Given the description of an element on the screen output the (x, y) to click on. 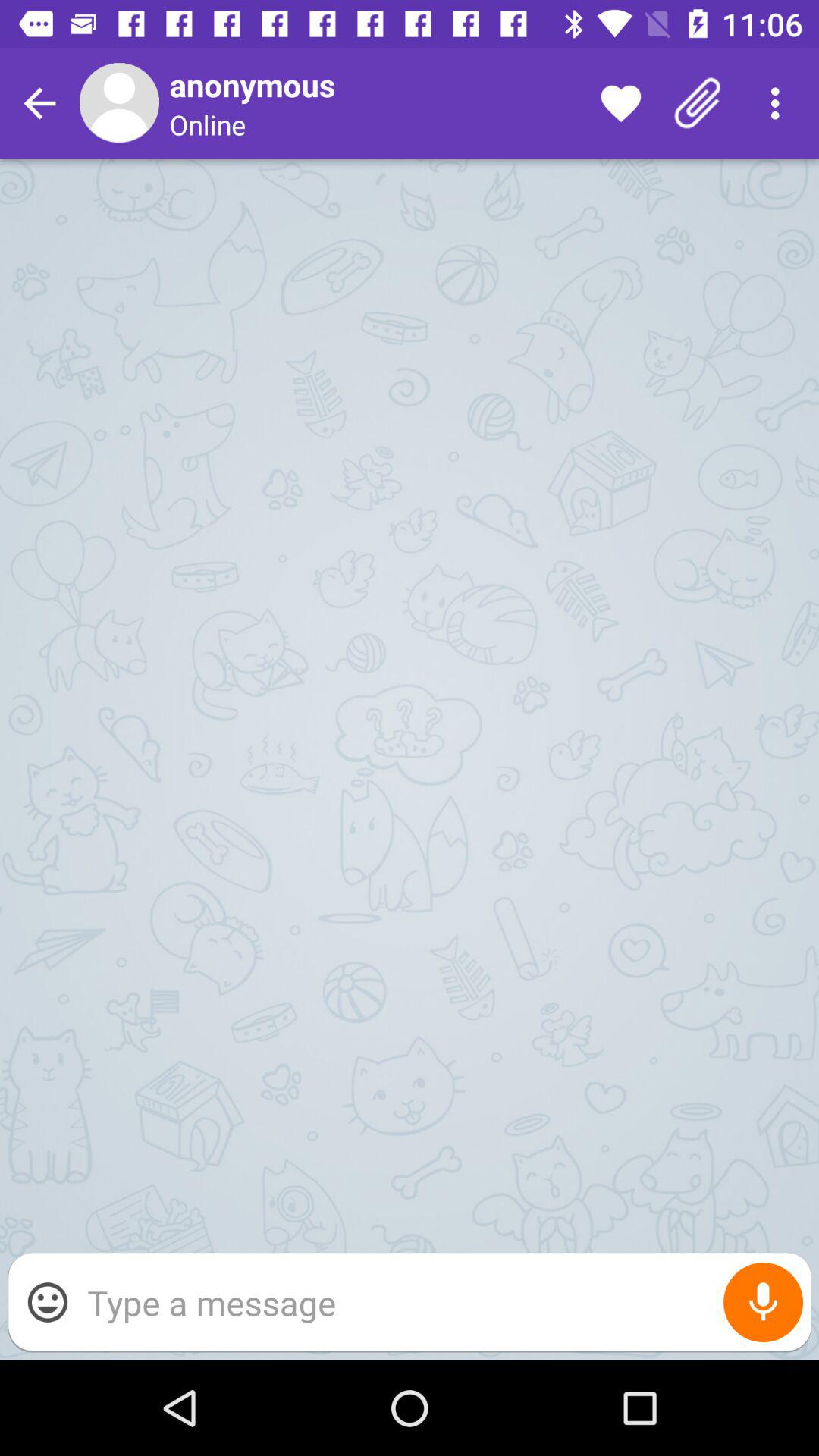
choose item at the bottom right corner (763, 1302)
